Given the description of an element on the screen output the (x, y) to click on. 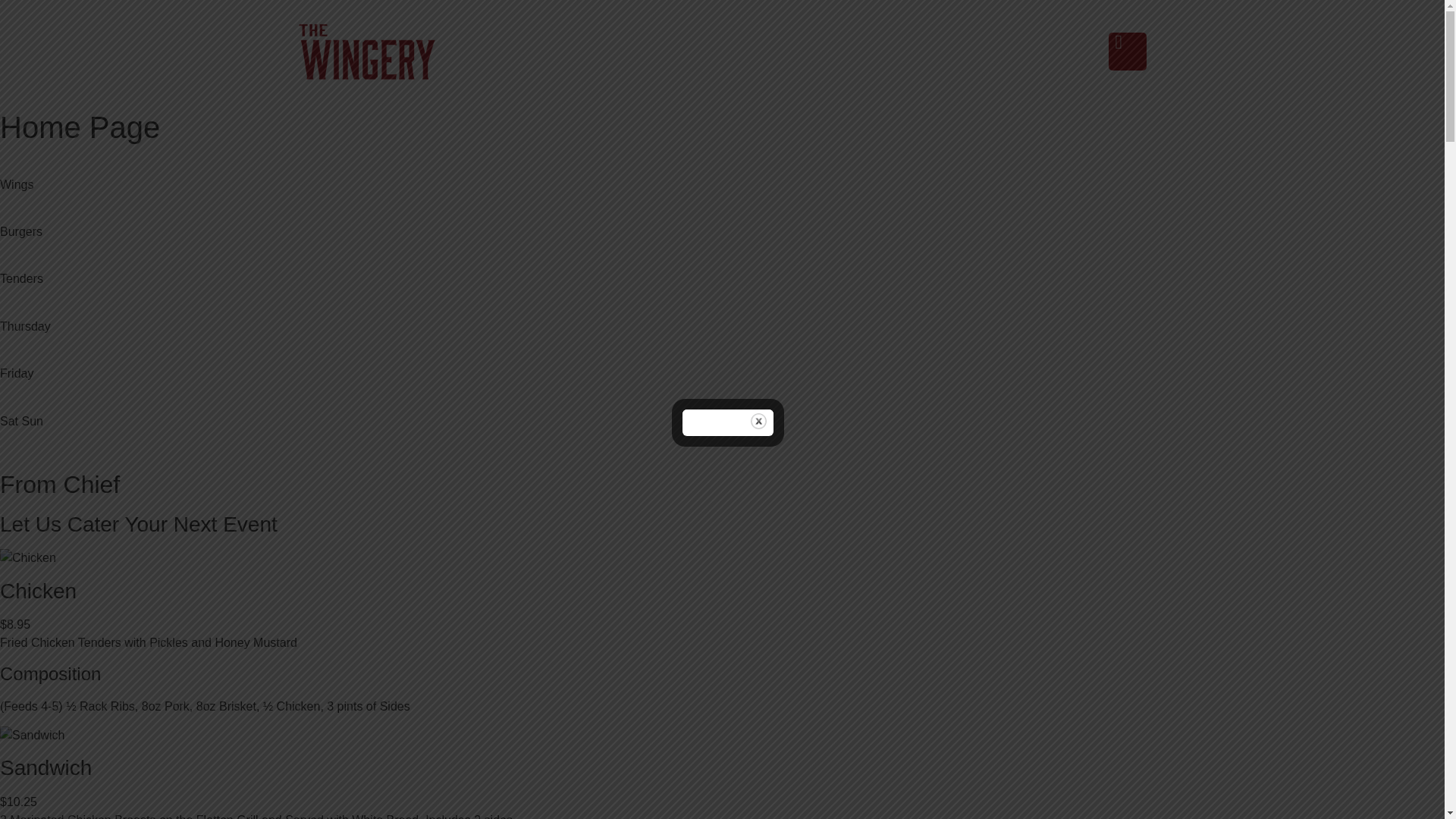
Close (759, 421)
